Given the description of an element on the screen output the (x, y) to click on. 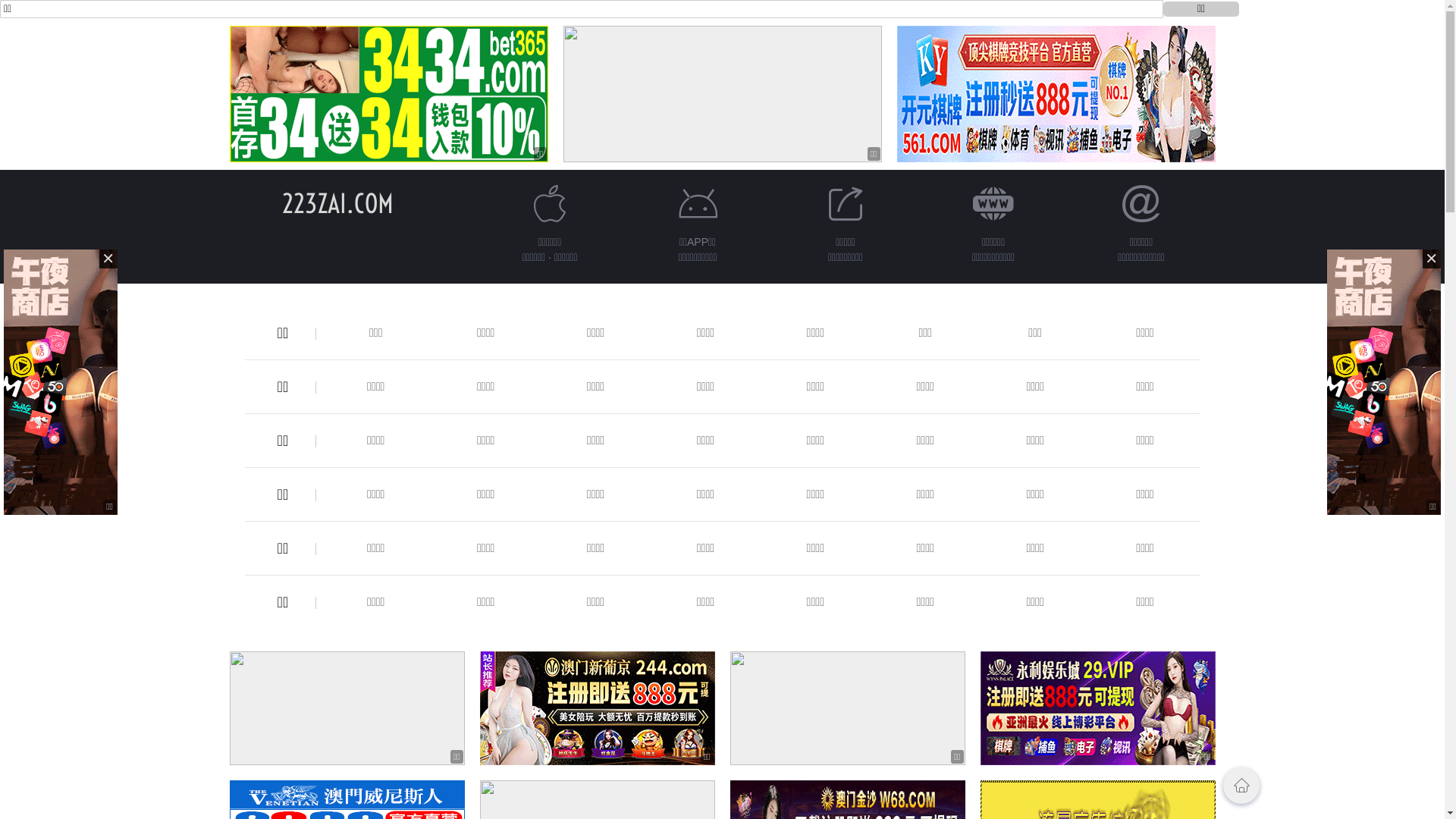
223ZAI.COM Element type: text (337, 203)
